Given the description of an element on the screen output the (x, y) to click on. 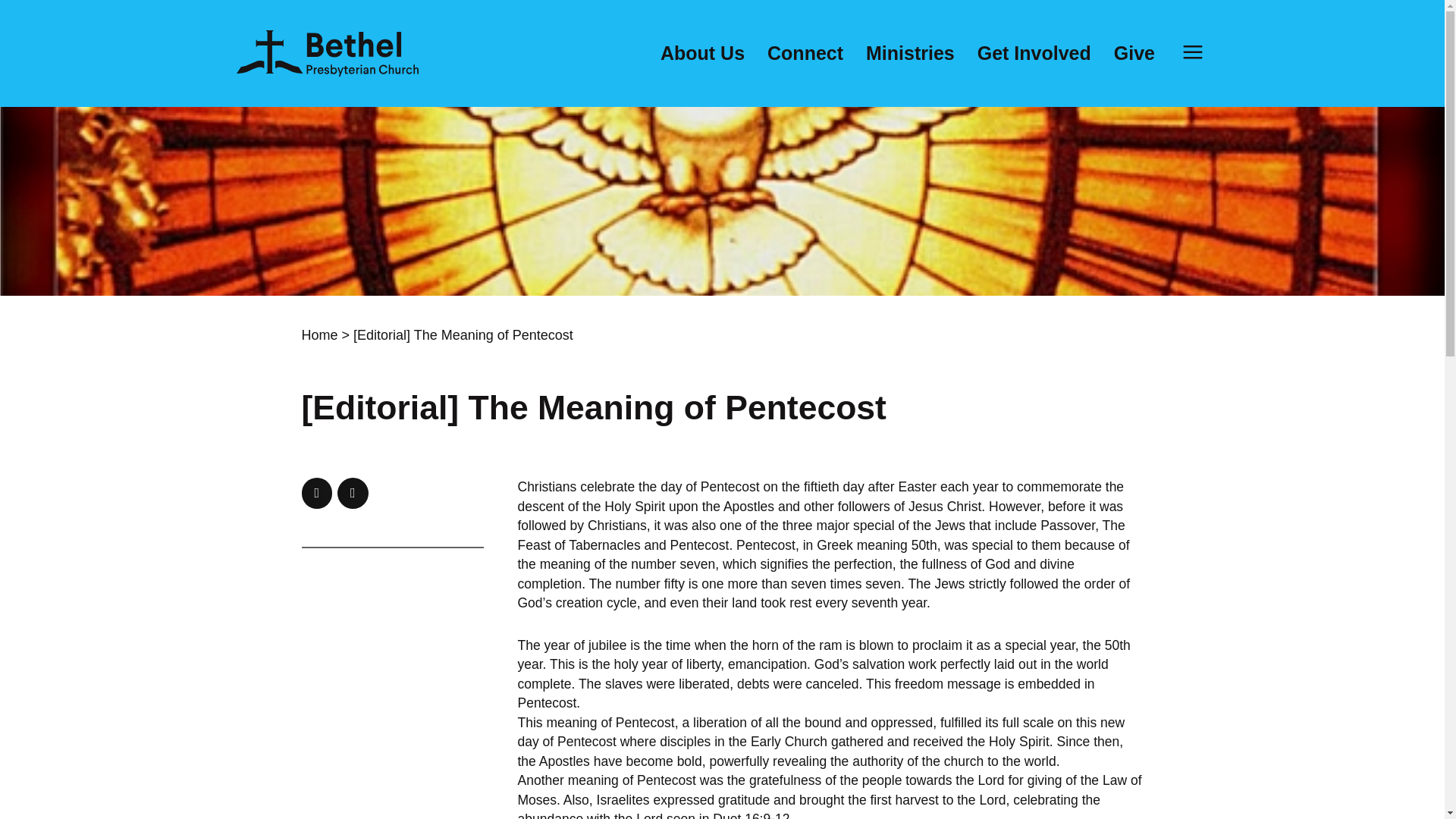
Give (1133, 53)
About Us (702, 53)
Connect (805, 53)
Bethel Presbyterian Church (327, 53)
Home (319, 335)
Ministries (910, 53)
Get Involved (1033, 53)
